Given the description of an element on the screen output the (x, y) to click on. 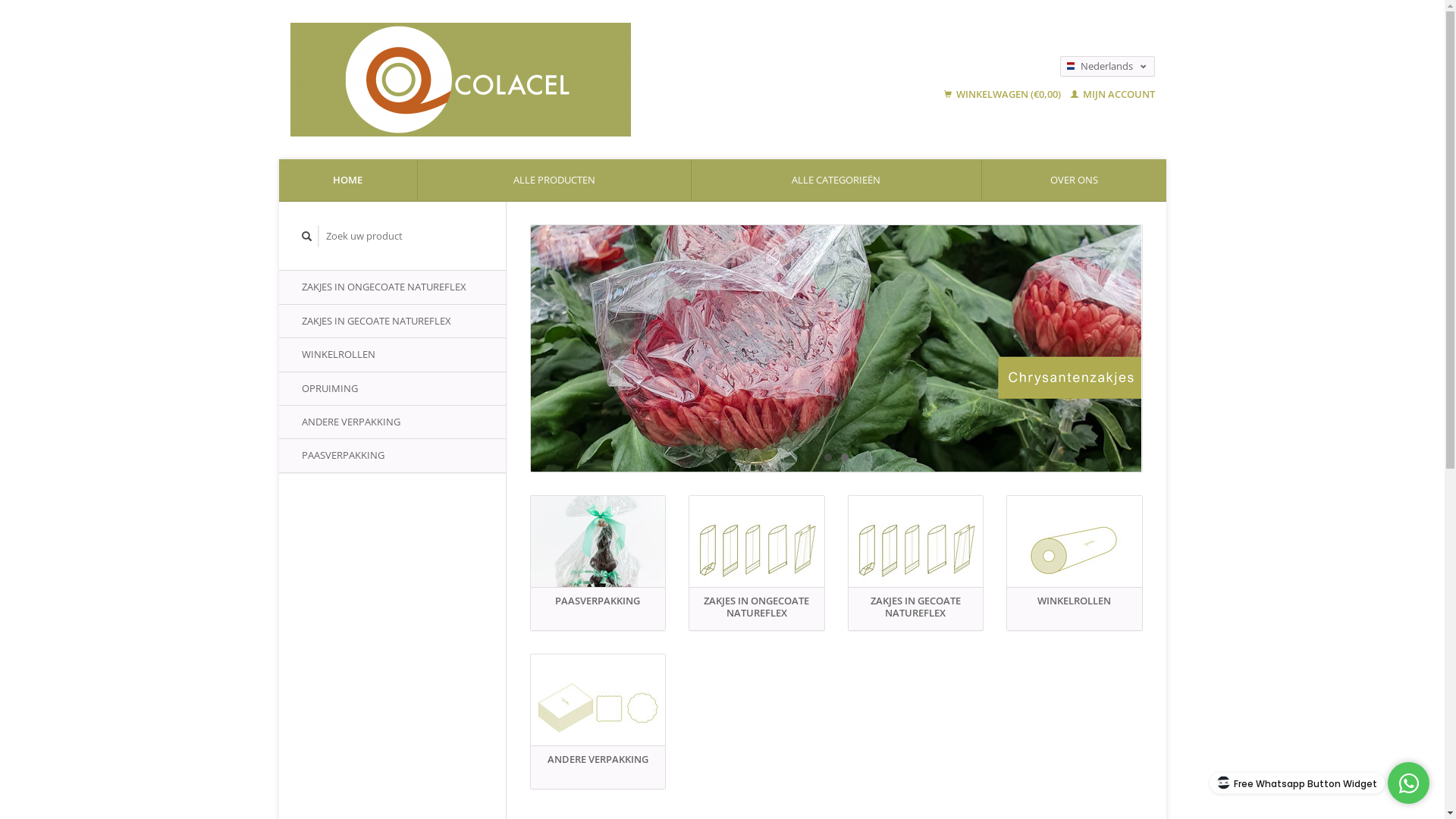
ZAKJES IN GECOATE NATUREFLEX Element type: text (914, 548)
HOME Element type: text (348, 179)
ZAKJES IN ONGECOATE NATUREFLEX Element type: text (756, 548)
ALLE PRODUCTEN Element type: text (553, 179)
OPRUIMING Element type: text (392, 388)
PAASVERPAKKING Element type: text (392, 455)
1 Element type: text (827, 457)
WINKELROLLEN Element type: text (392, 354)
ZAKJES IN ONGECOATE NATUREFLEX Element type: text (392, 286)
PAASVERPAKKING Element type: text (597, 548)
Webshop Element type: hover (556, 79)
Chrysantenzakjes Element type: hover (836, 348)
OVER ONS Element type: text (1074, 179)
ANDERE VERPAKKING Element type: text (392, 421)
ANDERE VERPAKKING Element type: text (597, 707)
2 Element type: text (843, 457)
Zoeken Element type: hover (306, 236)
MIJN ACCOUNT Element type: text (1112, 93)
ZAKJES IN GECOATE NATUREFLEX Element type: text (392, 321)
WINKELROLLEN Element type: text (1074, 548)
